Given the description of an element on the screen output the (x, y) to click on. 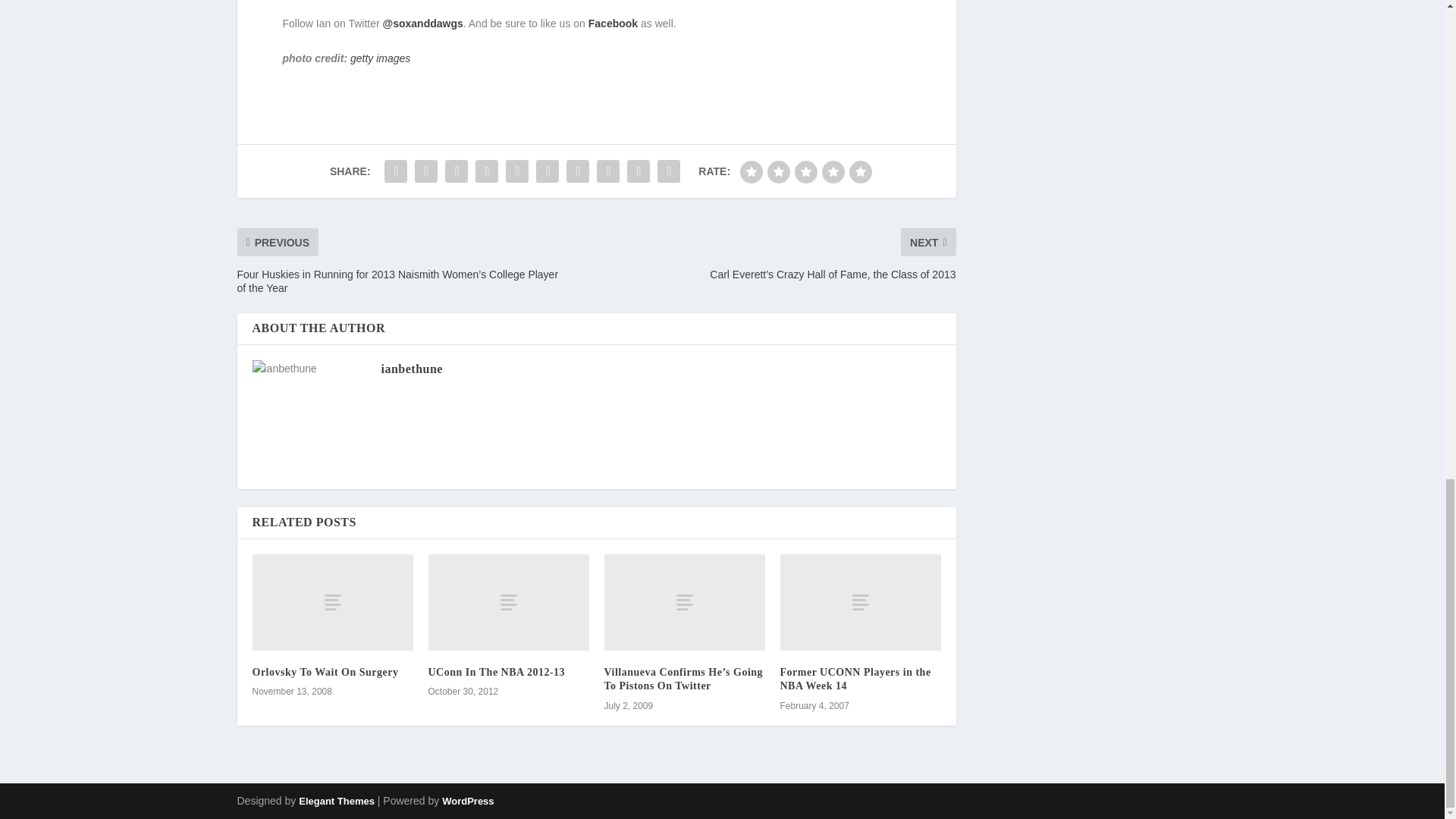
Share "Former Husky Will Beatty Gets Paid" via Pinterest (517, 171)
Share "Former Husky Will Beatty Gets Paid" via Facebook (395, 171)
Share "Former Husky Will Beatty Gets Paid" via Print (668, 171)
Share "Former Husky Will Beatty Gets Paid" via Stumbleupon (607, 171)
Share "Former Husky Will Beatty Gets Paid" via Buffer (577, 171)
Share "Former Husky Will Beatty Gets Paid" via Email (638, 171)
Share "Former Husky Will Beatty Gets Paid" via Twitter (425, 171)
Share "Former Husky Will Beatty Gets Paid" via LinkedIn (547, 171)
Share "Former Husky Will Beatty Gets Paid" via Tumblr (486, 171)
